Given the description of an element on the screen output the (x, y) to click on. 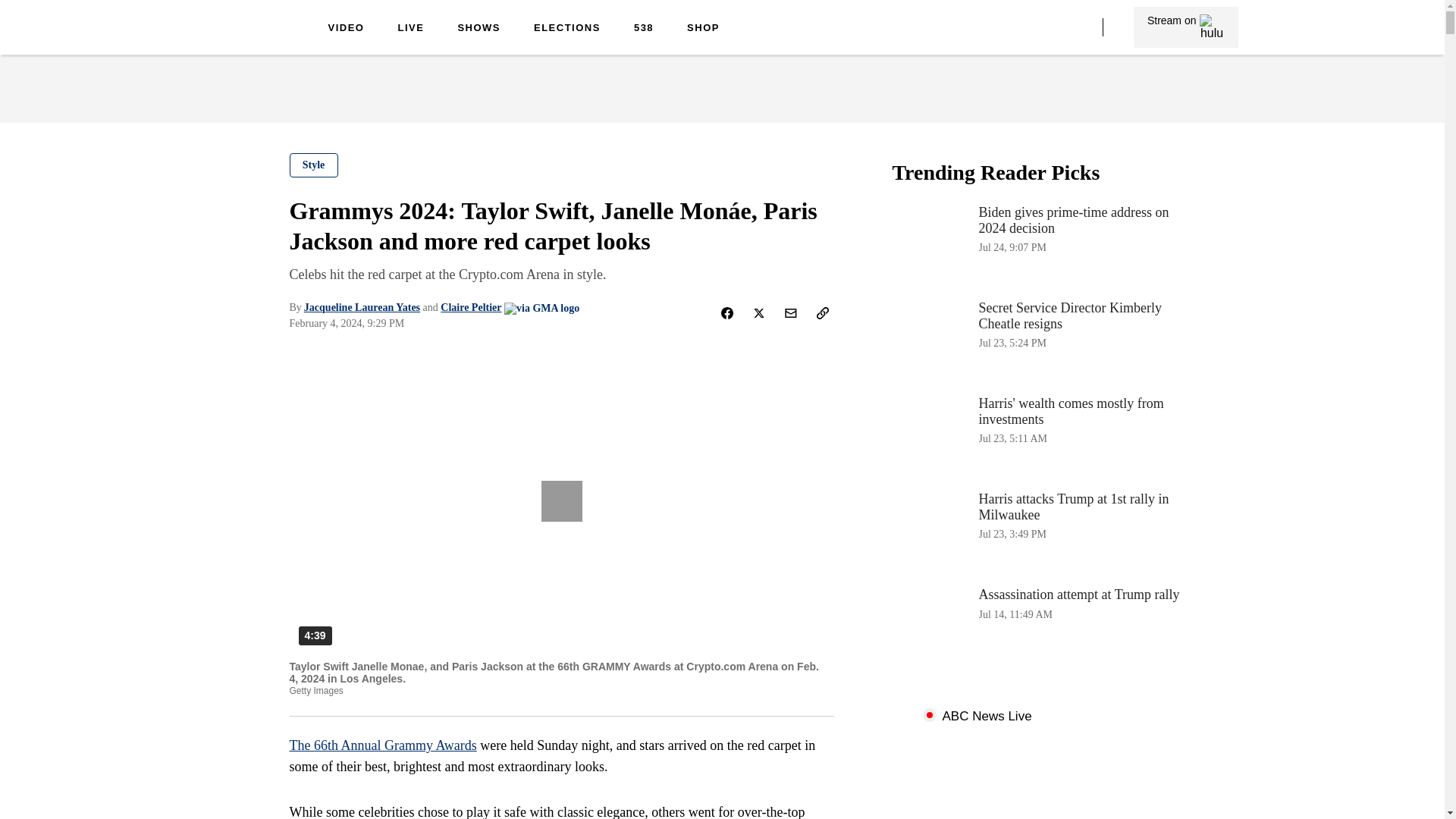
Style (1043, 434)
Stream on (313, 165)
VIDEO (1185, 27)
LIVE (345, 28)
SHOWS (410, 28)
ABC News (478, 28)
Claire Peltier (250, 38)
The 66th Annual Grammy Awards (1043, 625)
ELECTIONS (470, 307)
SHOP (383, 744)
Stream on (566, 28)
